Given the description of an element on the screen output the (x, y) to click on. 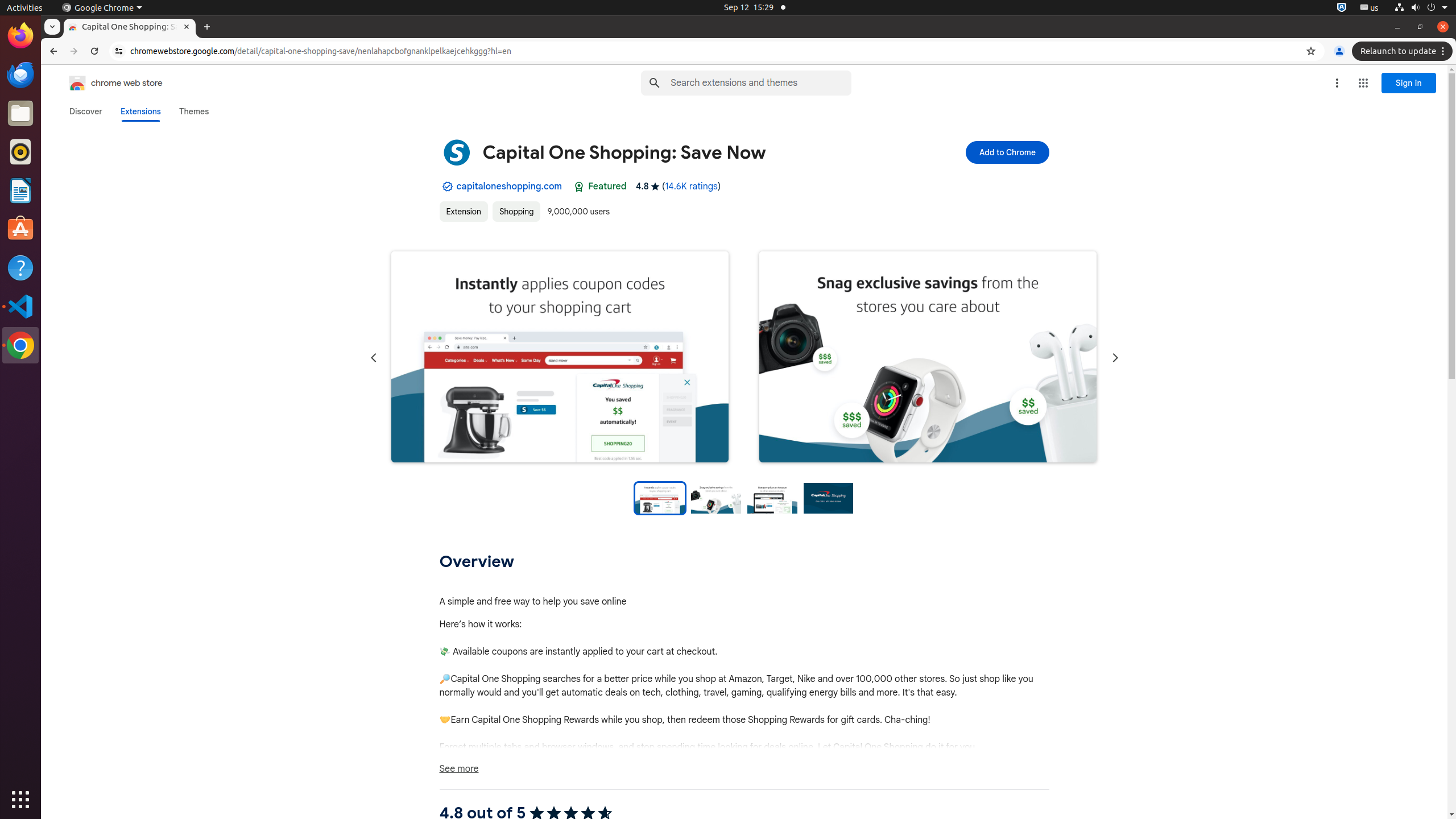
Preview slide 1 Element type: push-button (659, 498)
System Element type: menu (1420, 7)
Search input Element type: combo-box (760, 82)
Chrome Web Store logo chrome web store Element type: link (103, 82)
Themes Element type: page-tab (193, 111)
